Given the description of an element on the screen output the (x, y) to click on. 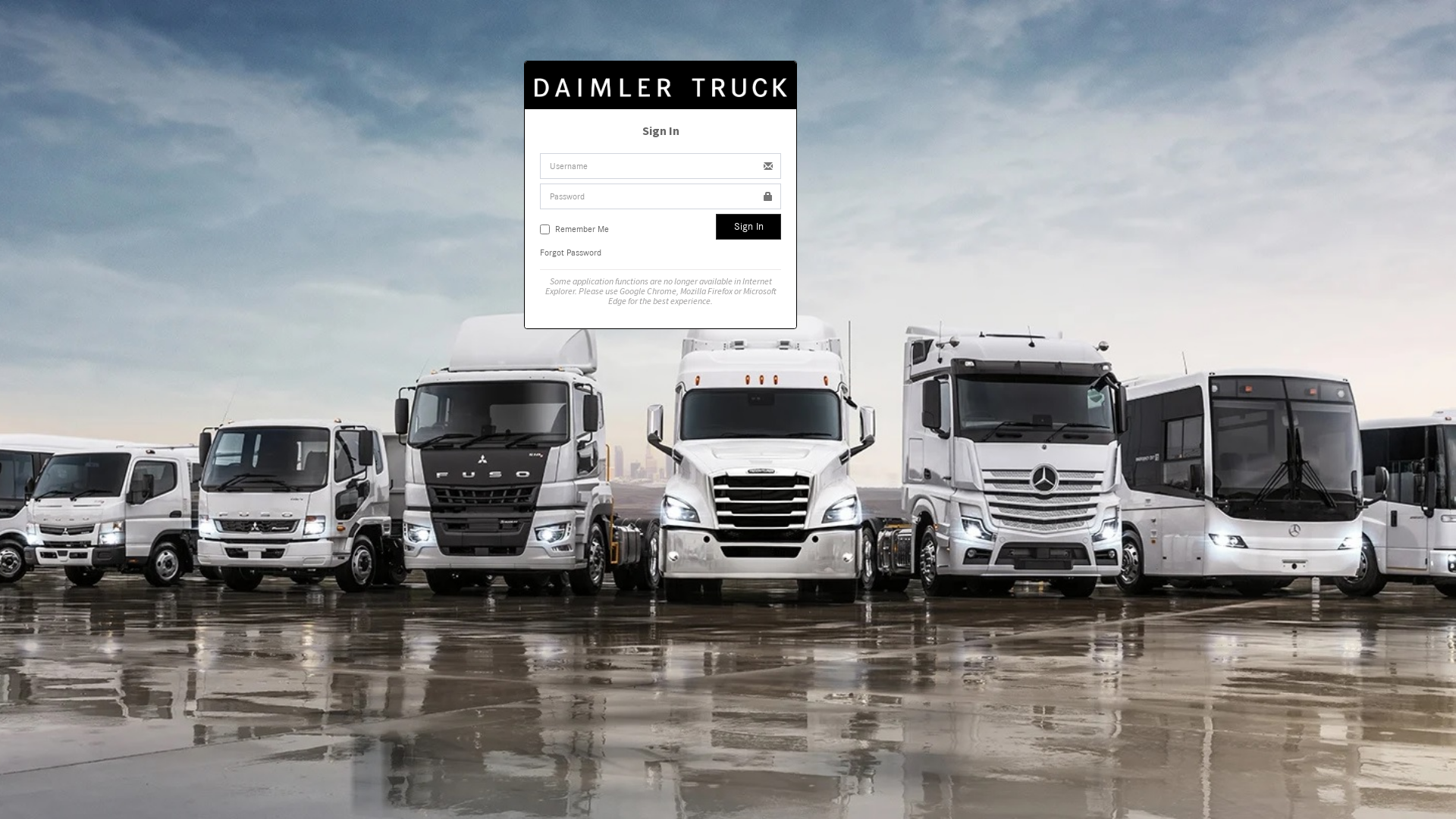
Sign In Element type: text (748, 226)
Forgot Password Element type: text (570, 252)
